Given the description of an element on the screen output the (x, y) to click on. 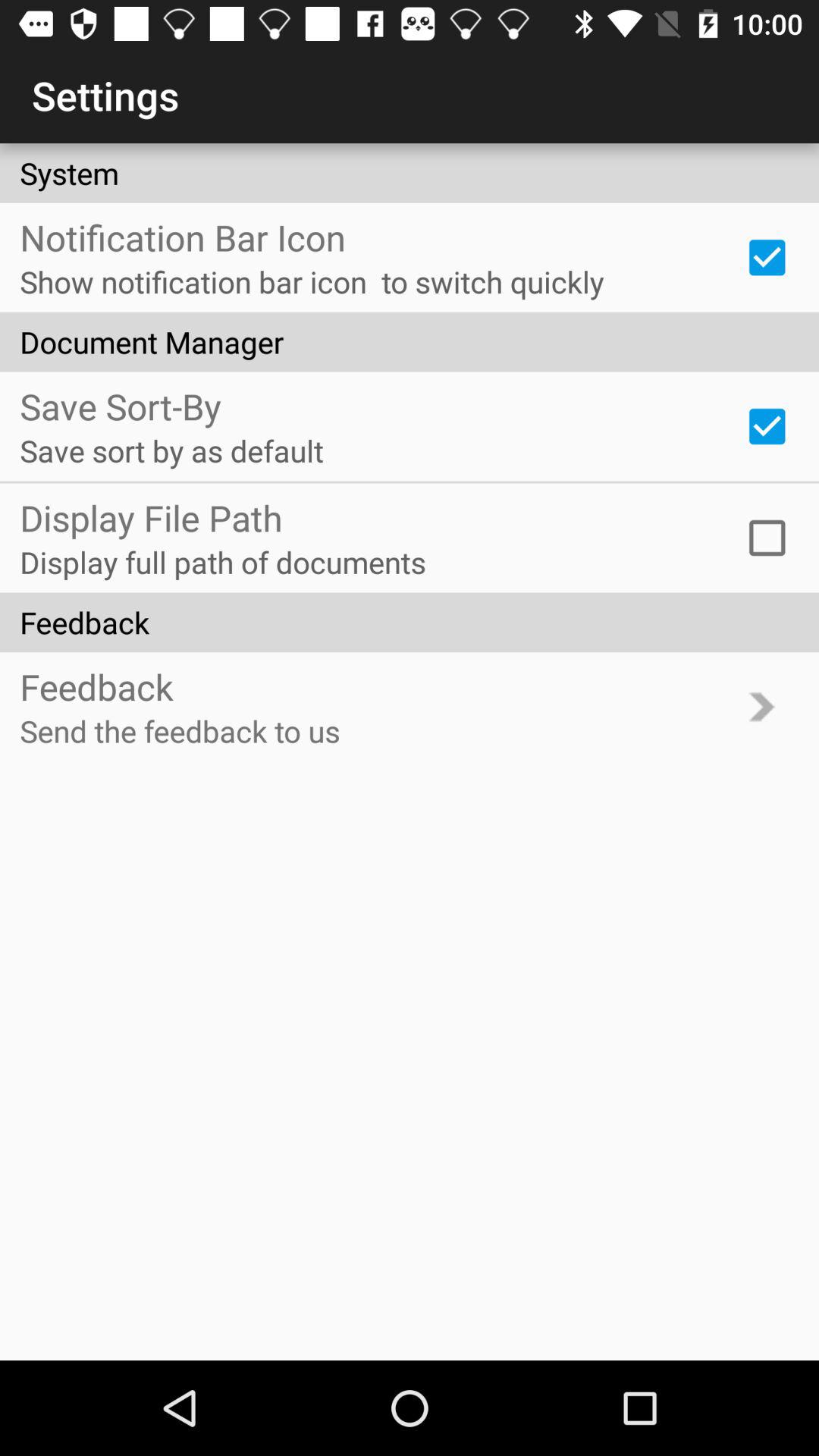
tap icon next to display full path (767, 537)
